Given the description of an element on the screen output the (x, y) to click on. 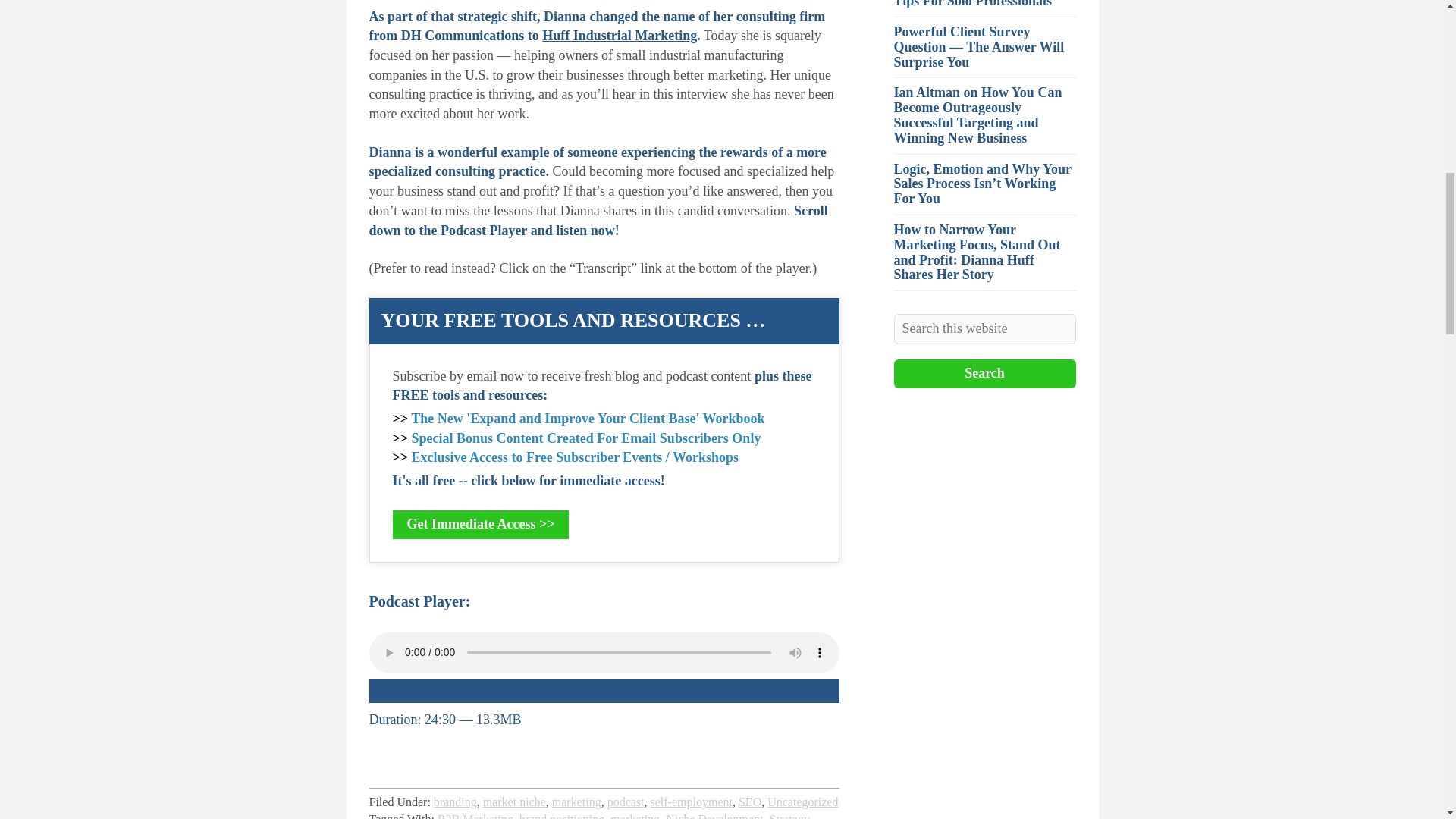
Download (412, 693)
Strategy (789, 816)
branding (455, 801)
Niche Development (713, 816)
B2B Marketing (475, 816)
marketing (634, 816)
Android (567, 689)
Transcript (744, 693)
podcast (626, 801)
SEO (749, 801)
iTunes (490, 693)
marketing (576, 801)
Search (984, 373)
Huff Industrial Marketing (619, 35)
market niche (514, 801)
